Given the description of an element on the screen output the (x, y) to click on. 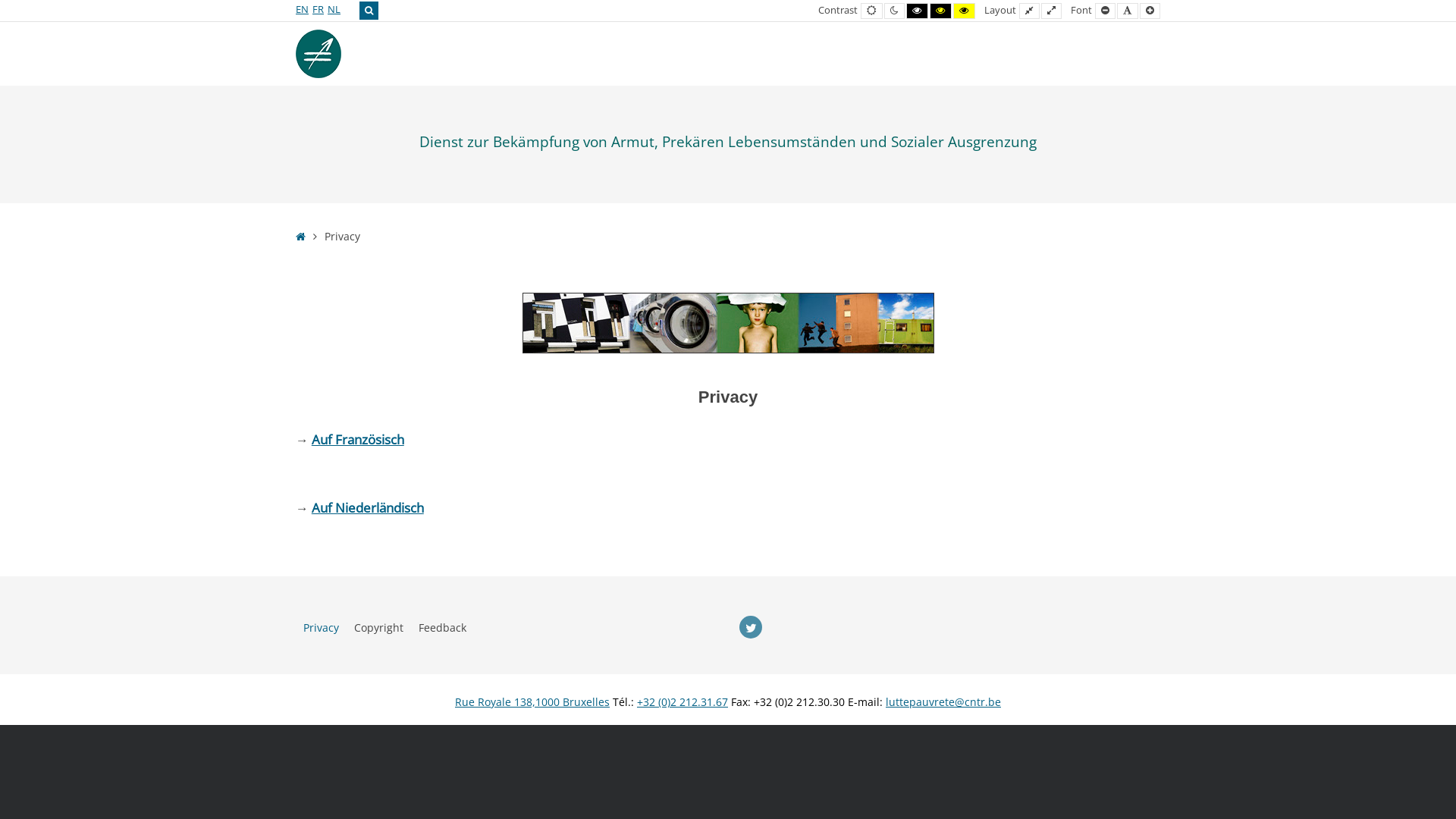
Default Font Element type: text (1127, 10)
Black and Yellow contrast Element type: text (940, 10)
Smaller Font Element type: text (1105, 10)
Wide layout Element type: text (1051, 10)
FR Element type: text (317, 9)
EN Element type: text (301, 9)
Night contrast Element type: text (894, 10)
Twitter Element type: text (750, 626)
NL Element type: text (333, 9)
Black and White contrast Element type: text (917, 10)
Fixed layout Element type: text (1029, 10)
Larger Font Element type: text (1149, 10)
Rue Royale 138,1000 Bruxelles Element type: text (532, 701)
Default contrast Element type: text (871, 10)
Privacy Element type: text (320, 627)
Home Element type: text (300, 236)
luttepauvrete@cntr.be Element type: text (943, 701)
Feedback Element type: text (442, 627)
Copyright Element type: text (378, 627)
+32 (0)2 212.31.67 Element type: text (682, 701)
Search Element type: text (368, 10)
Yellow and Black contrast Element type: text (964, 10)
